Given the description of an element on the screen output the (x, y) to click on. 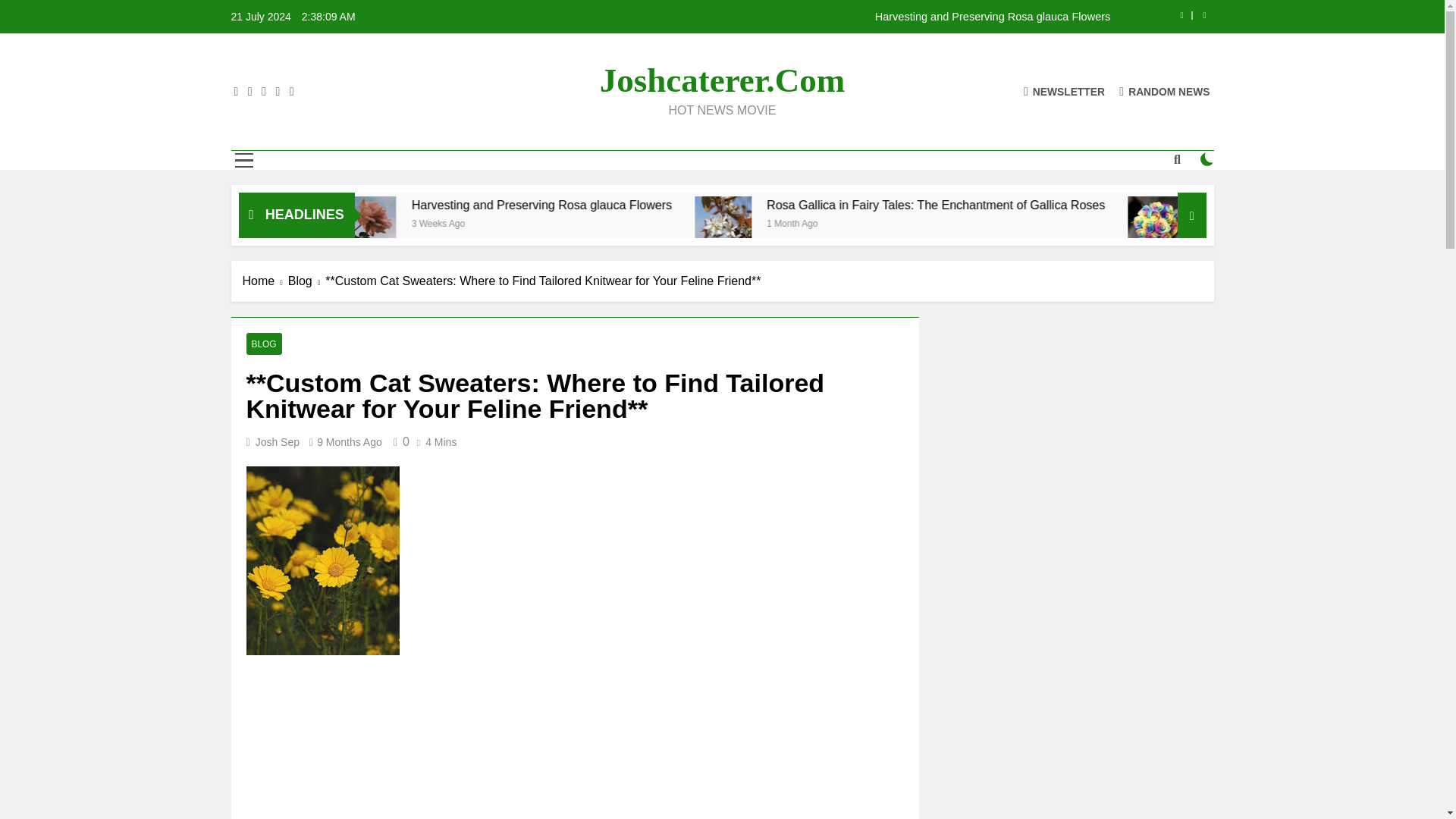
Joshcaterer.Com (722, 80)
1 Month Ago (1003, 222)
Harvesting and Preserving Rosa glauca Flowers (817, 16)
on (1206, 159)
The Feng Shui Uses of Rosa glauca (453, 205)
3 Weeks Ago (660, 222)
Harvesting and Preserving Rosa glauca Flowers (767, 205)
3 Weeks Ago (380, 222)
NEWSLETTER (1064, 91)
Harvesting and Preserving Rosa glauca Flowers (817, 16)
RANDOM NEWS (1164, 91)
The Feng Shui Uses of Rosa glauca (379, 205)
